Given the description of an element on the screen output the (x, y) to click on. 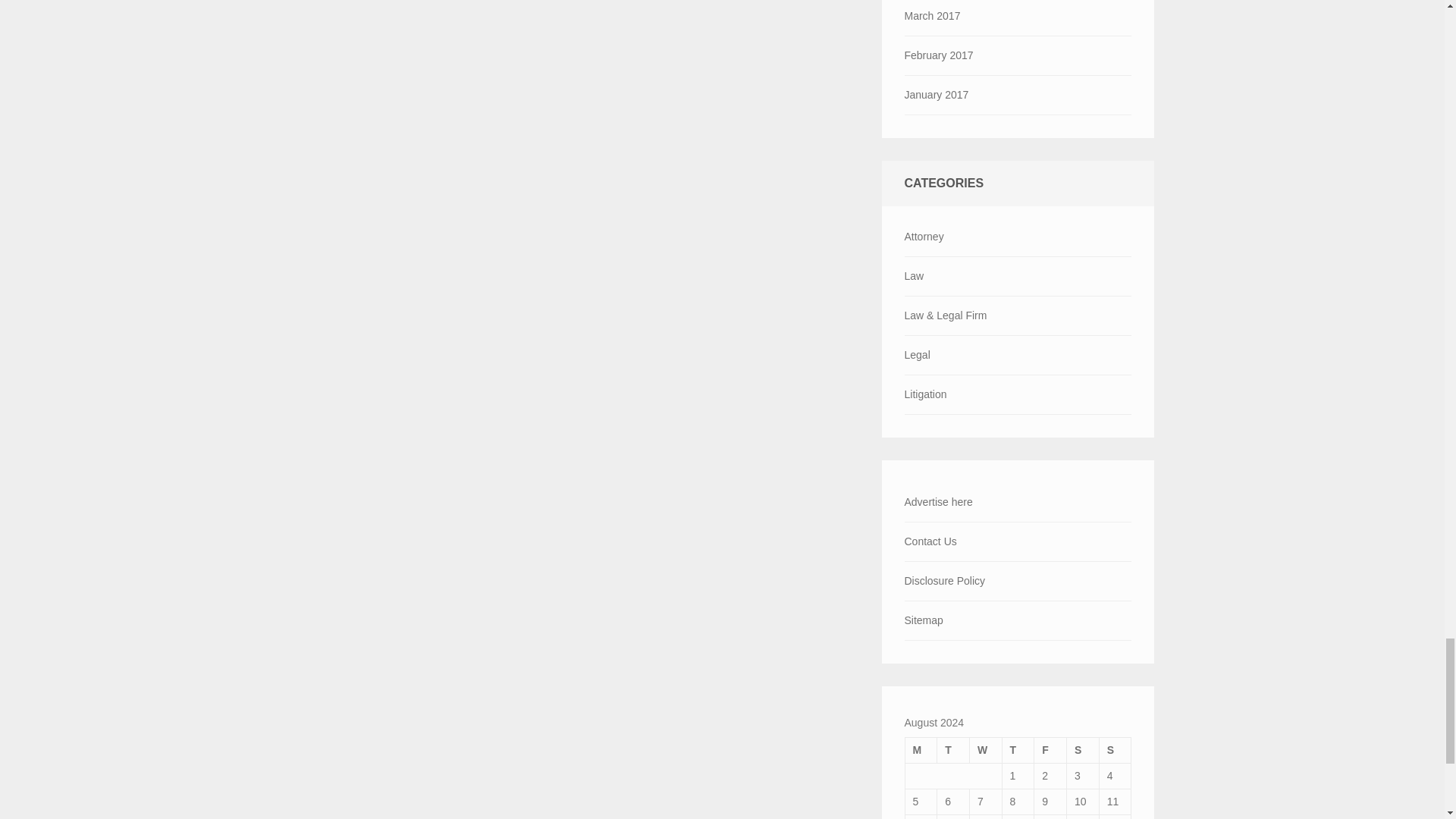
Tuesday (953, 749)
Saturday (1083, 749)
Wednesday (985, 749)
Monday (920, 749)
Sunday (1115, 749)
Friday (1050, 749)
Thursday (1017, 749)
